Given the description of an element on the screen output the (x, y) to click on. 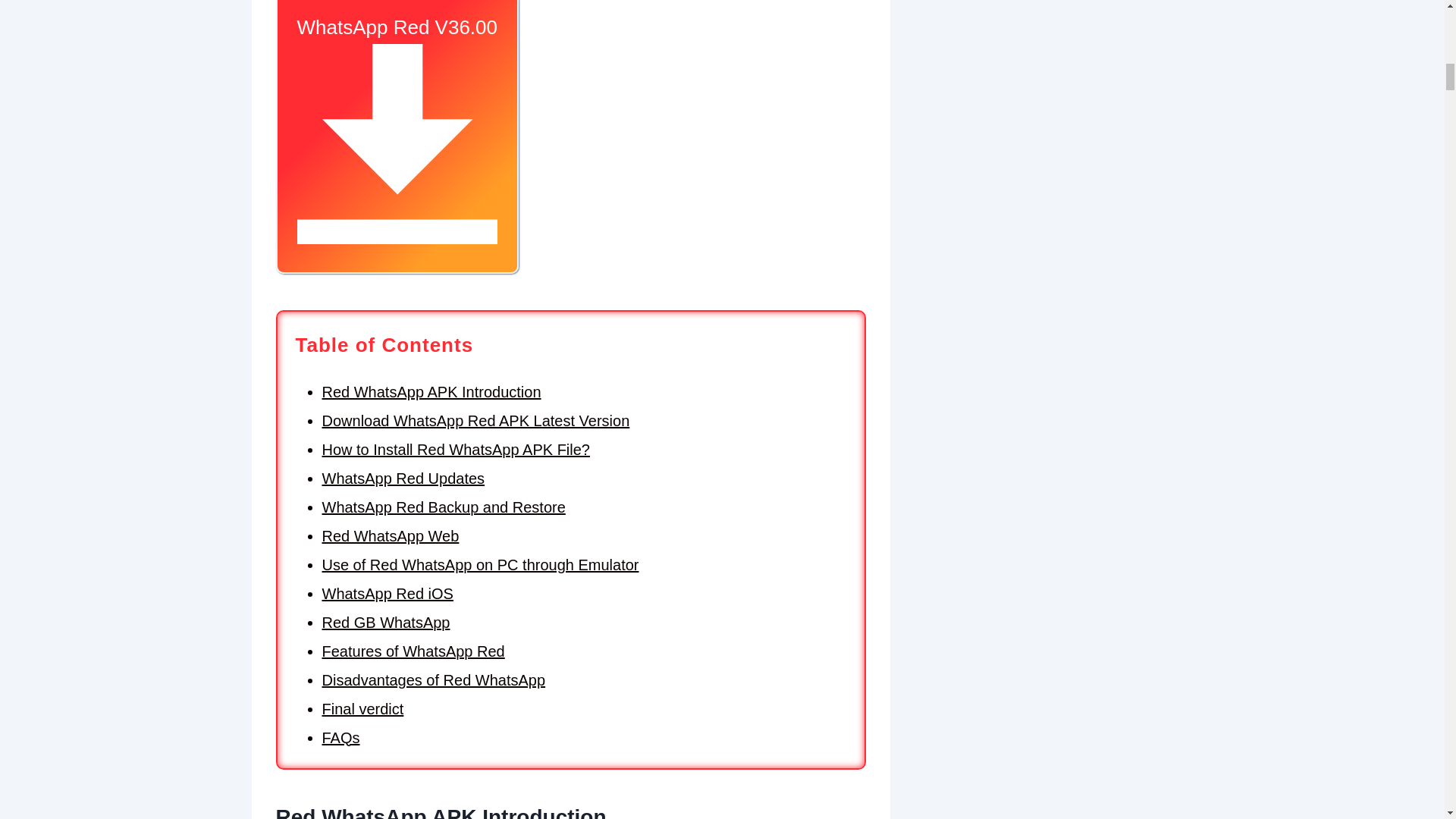
FAQs (340, 737)
Features of WhatsApp Red (412, 651)
WhatsApp Red Backup and Restore (442, 506)
Download WhatsApp Red APK Latest Version (474, 420)
How to Install Red WhatsApp APK File? (455, 449)
Red WhatsApp APK Introduction (430, 392)
WhatsApp Red Updates (402, 478)
WhatsApp Red iOS (386, 593)
Red WhatsApp Web (389, 535)
Disadvantages of Red WhatsApp (432, 679)
Use of Red WhatsApp on PC through Emulator (480, 564)
Red GB WhatsApp (385, 622)
WhatsApp Red V36.00 (397, 136)
Final verdict (362, 709)
